Given the description of an element on the screen output the (x, y) to click on. 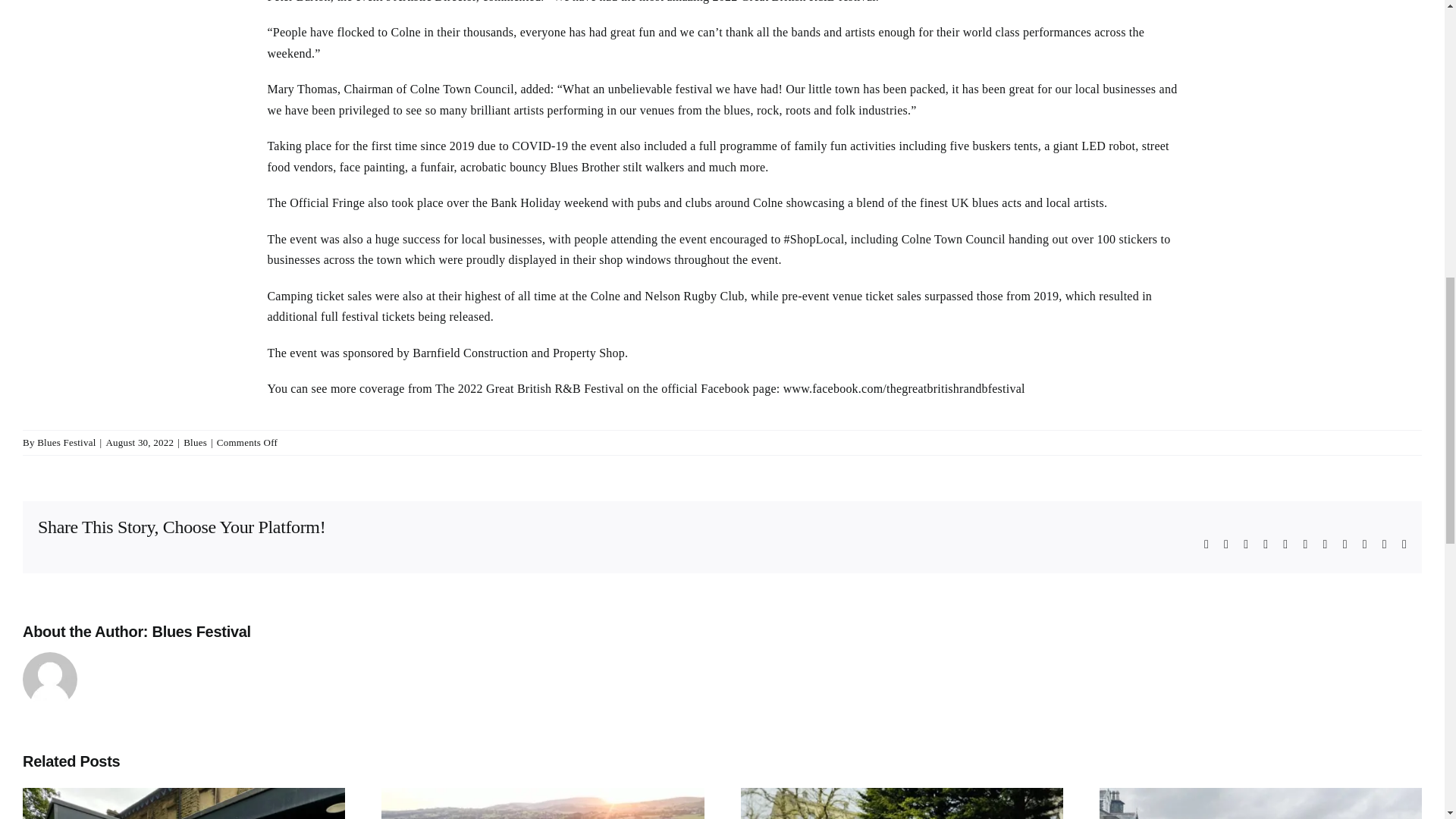
Blues Festival (66, 441)
Blues (194, 441)
Posts by Blues Festival (66, 441)
Posts by Blues Festival (200, 631)
